Given the description of an element on the screen output the (x, y) to click on. 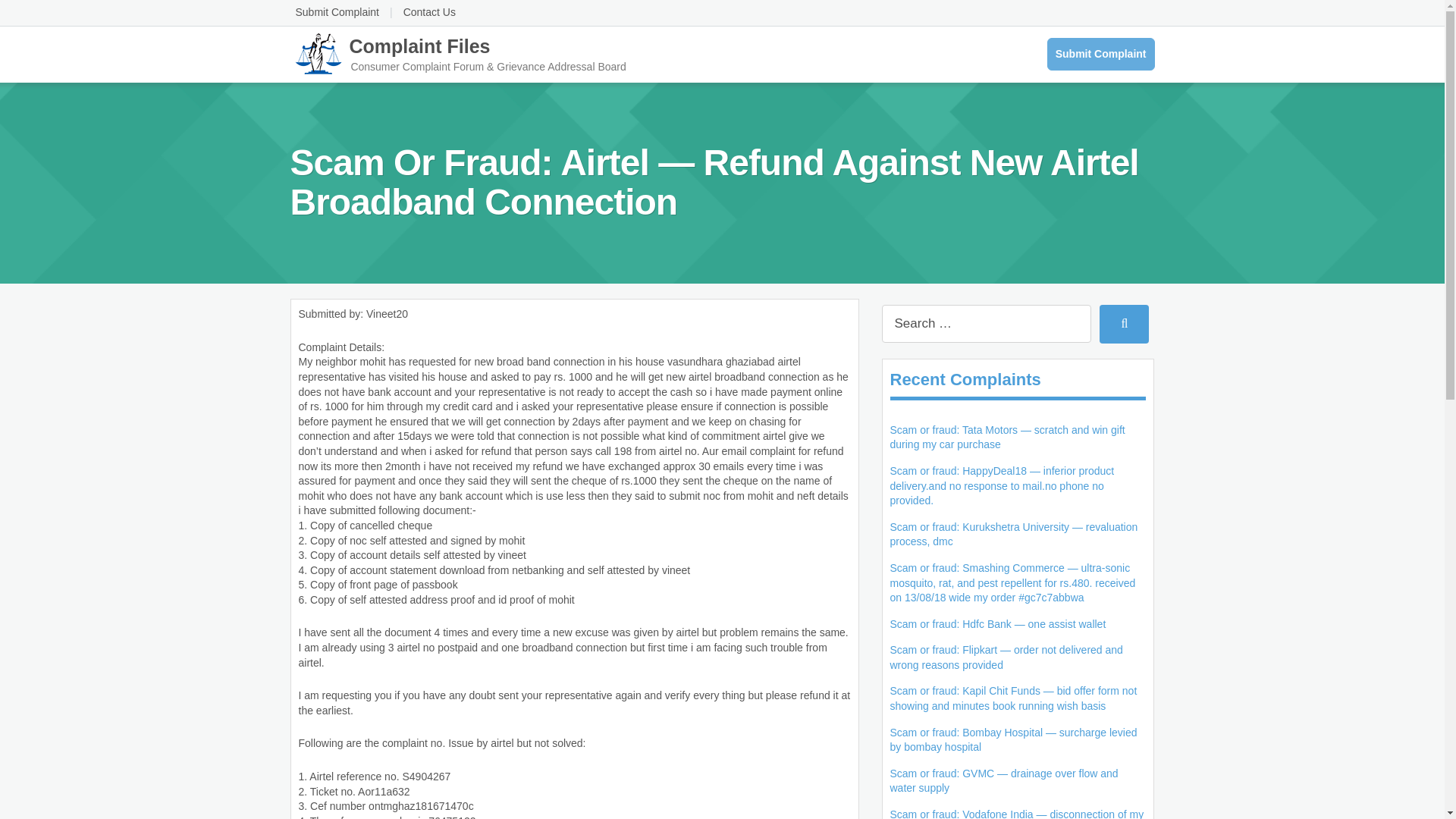
Search for: (985, 323)
Contact Us (429, 11)
Complaint Files (457, 52)
Submit Complaint (337, 11)
Submit Complaint (1101, 54)
